Given the description of an element on the screen output the (x, y) to click on. 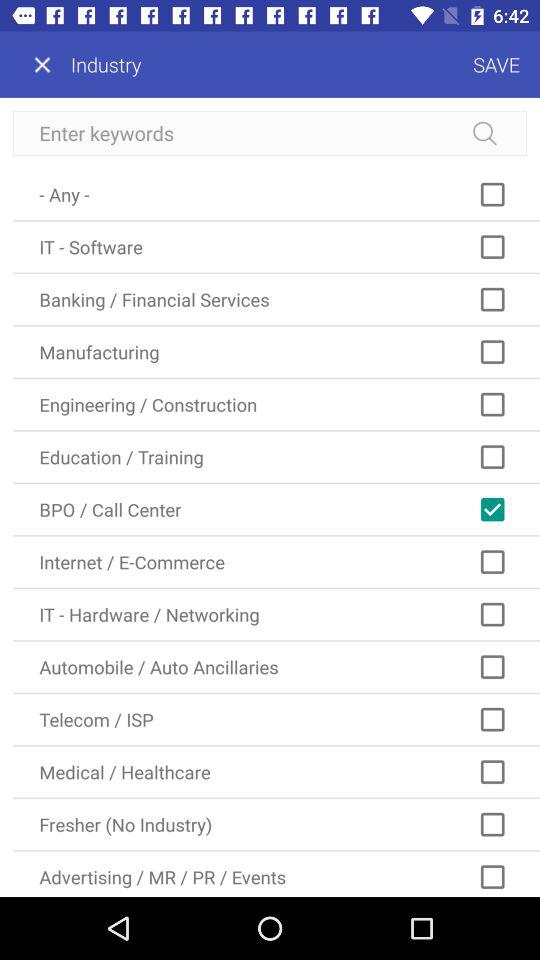
turn off the bpo / call center (276, 509)
